Given the description of an element on the screen output the (x, y) to click on. 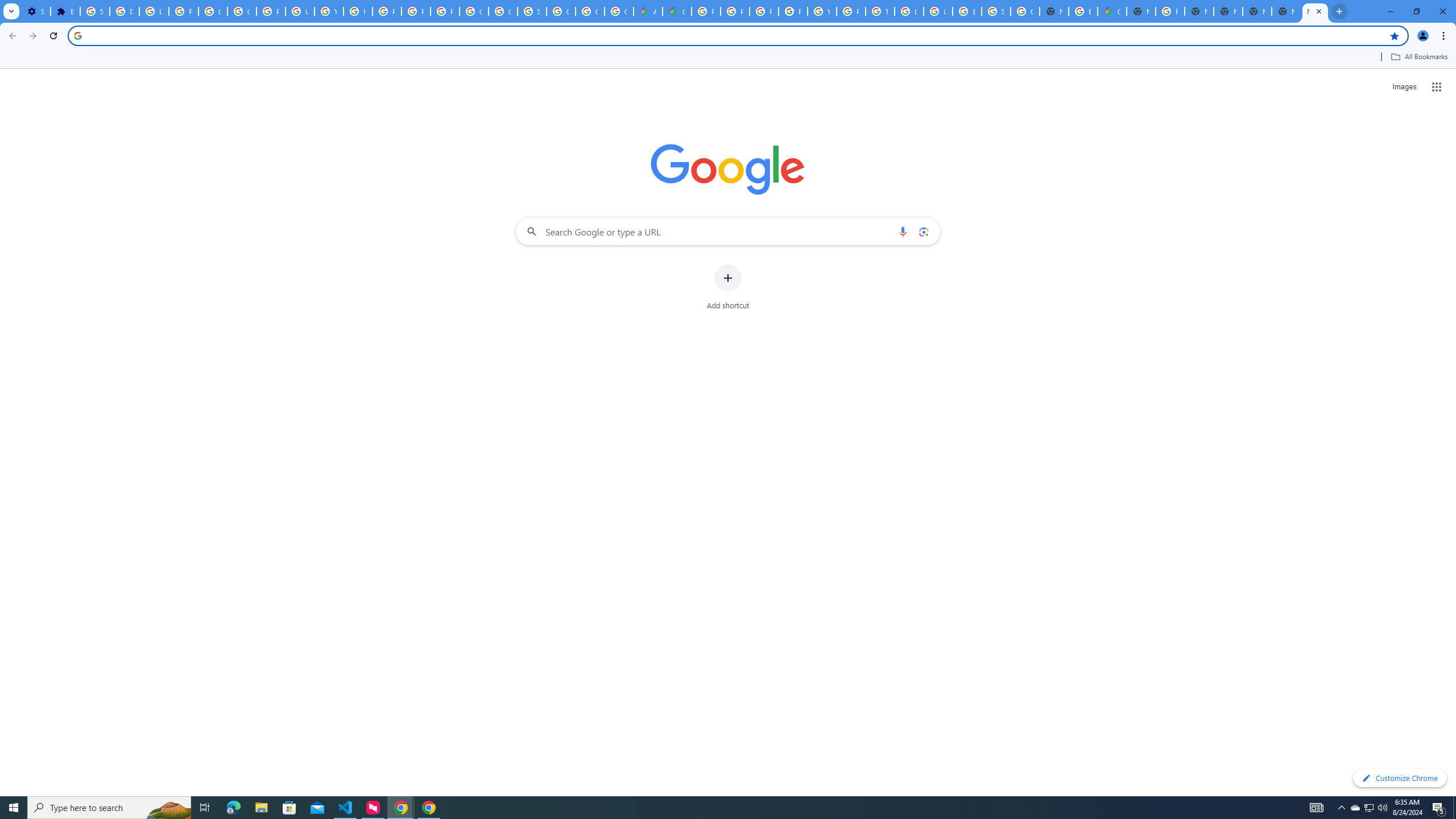
Learn how to find your photos - Google Photos Help (153, 11)
Search Google or type a URL (727, 230)
Delete photos & videos - Computer - Google Photos Help (124, 11)
Settings - On startup (35, 11)
New Tab (1286, 11)
Bookmarks (728, 58)
